Given the description of an element on the screen output the (x, y) to click on. 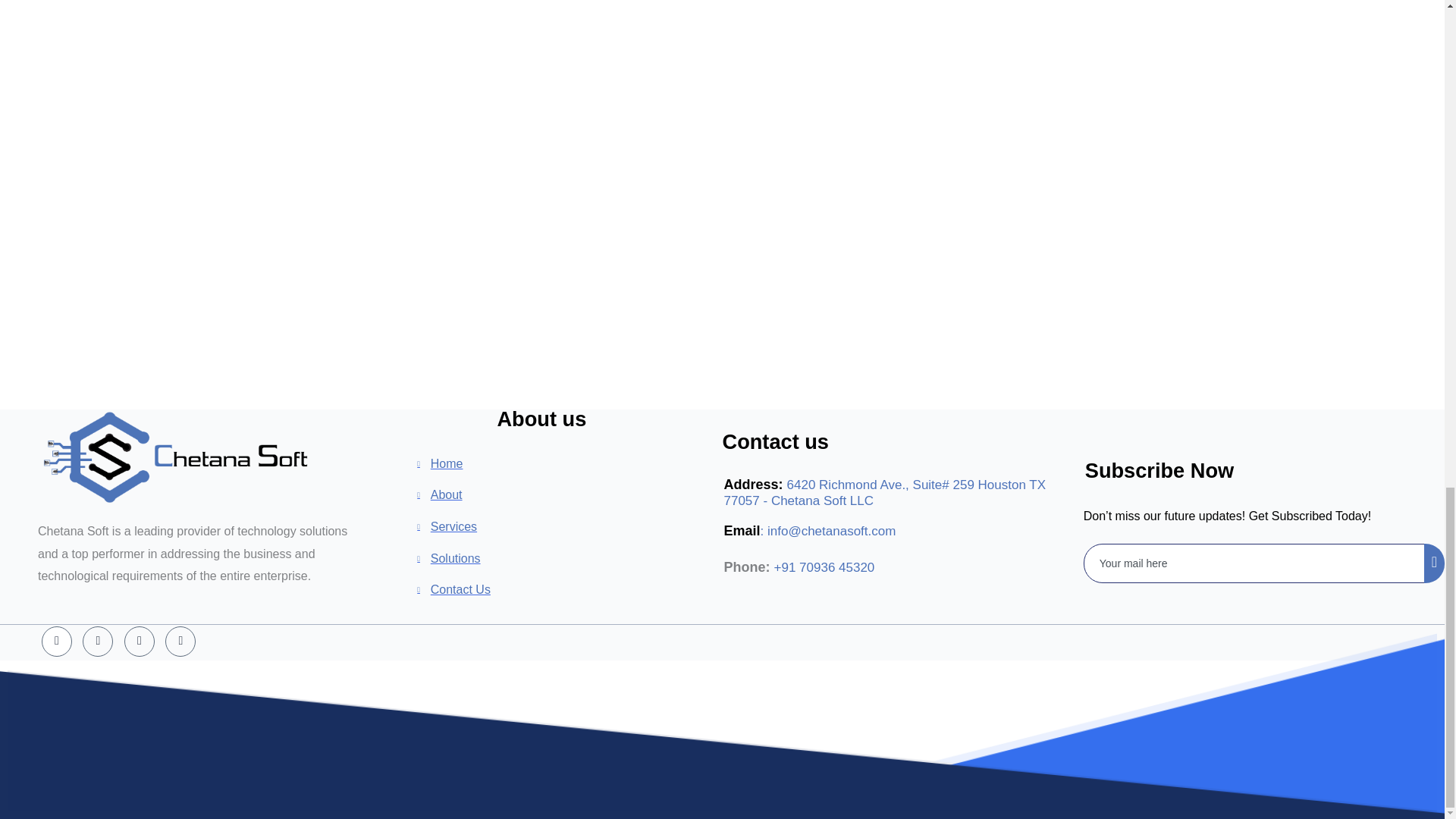
Contact Us (569, 589)
Home (569, 463)
Services (569, 526)
About (569, 495)
Solutions (569, 558)
